Given the description of an element on the screen output the (x, y) to click on. 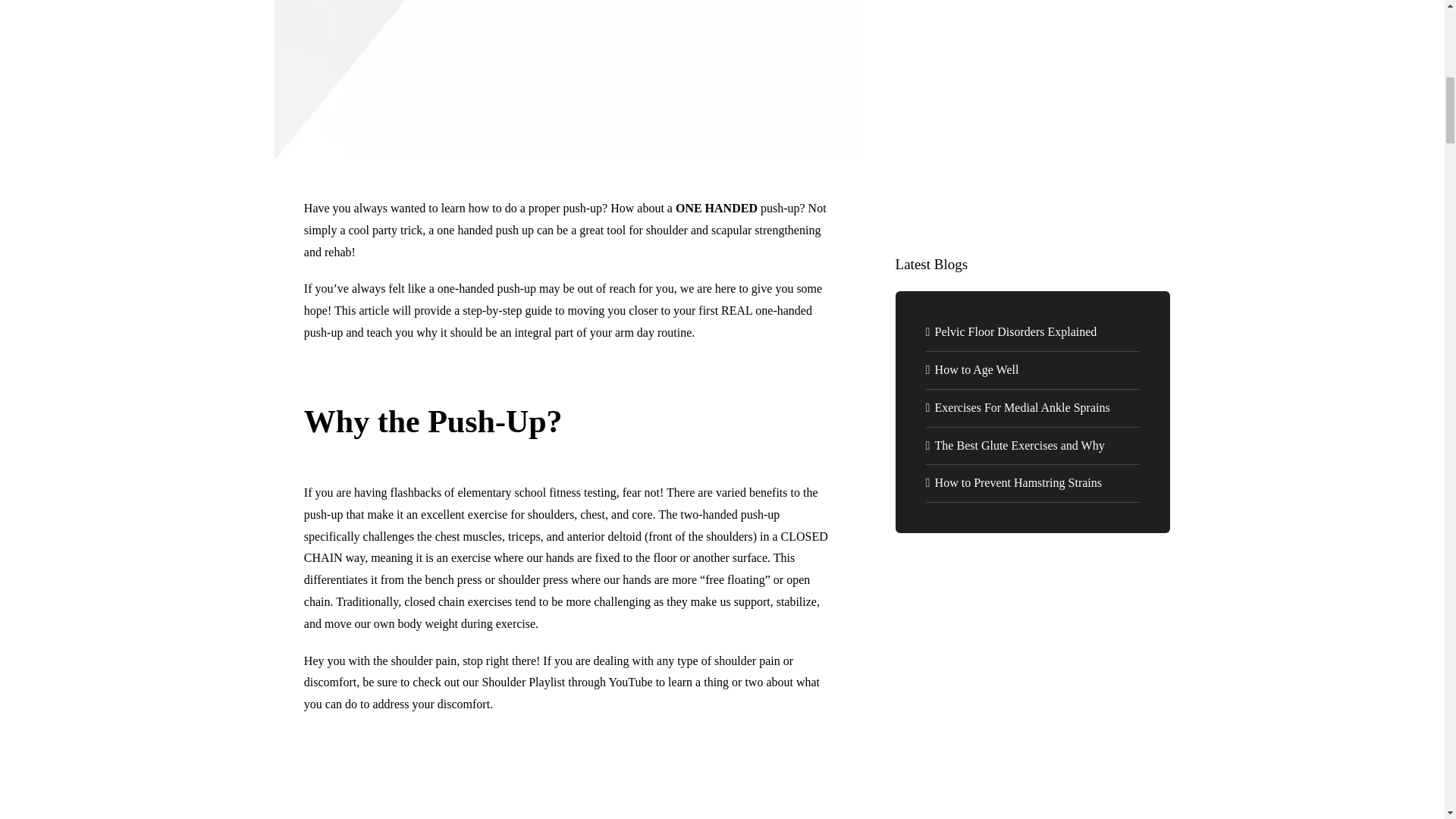
How to Progress to a REAL One Hand Push-Up-IG (567, 79)
